Given the description of an element on the screen output the (x, y) to click on. 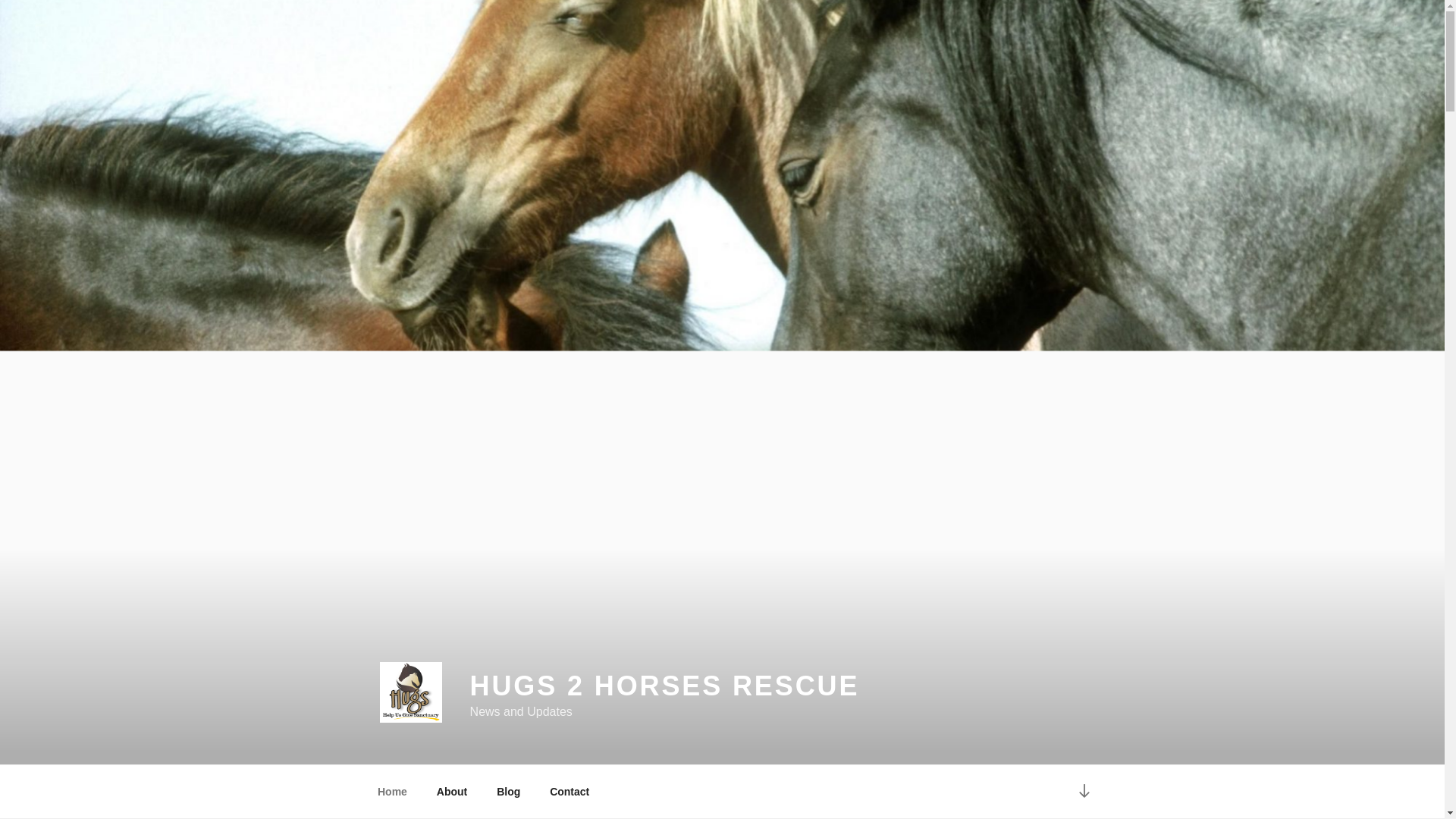
Blog (508, 791)
Contact (569, 791)
HUGS 2 HORSES RESCUE (665, 685)
About (451, 791)
Home (392, 791)
Scroll down to content (1082, 791)
Scroll down to content (1082, 791)
